Given the description of an element on the screen output the (x, y) to click on. 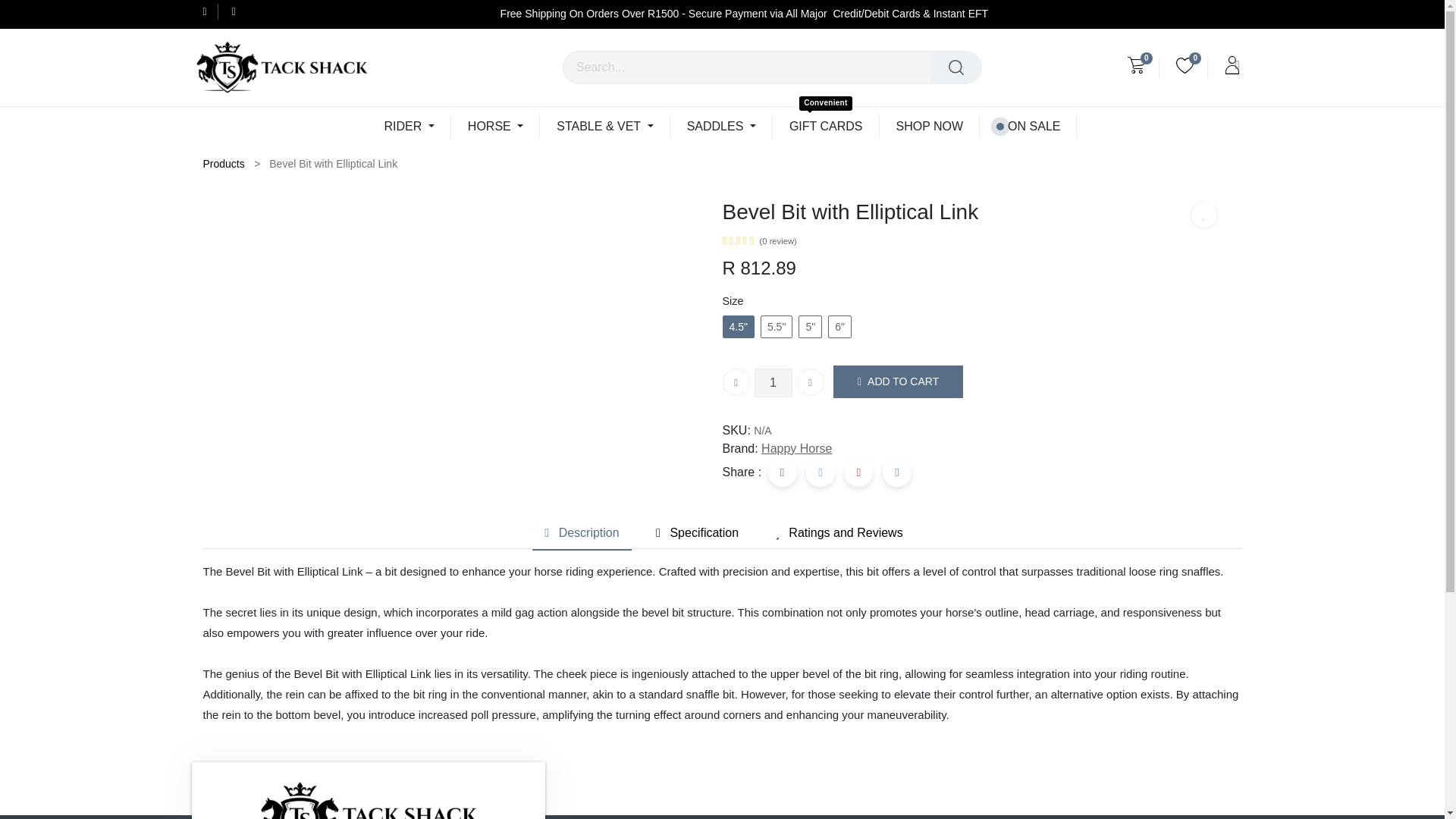
1 (773, 382)
Search (955, 67)
HORSE (495, 126)
RIDER (409, 126)
Tack Shack (280, 67)
